Given the description of an element on the screen output the (x, y) to click on. 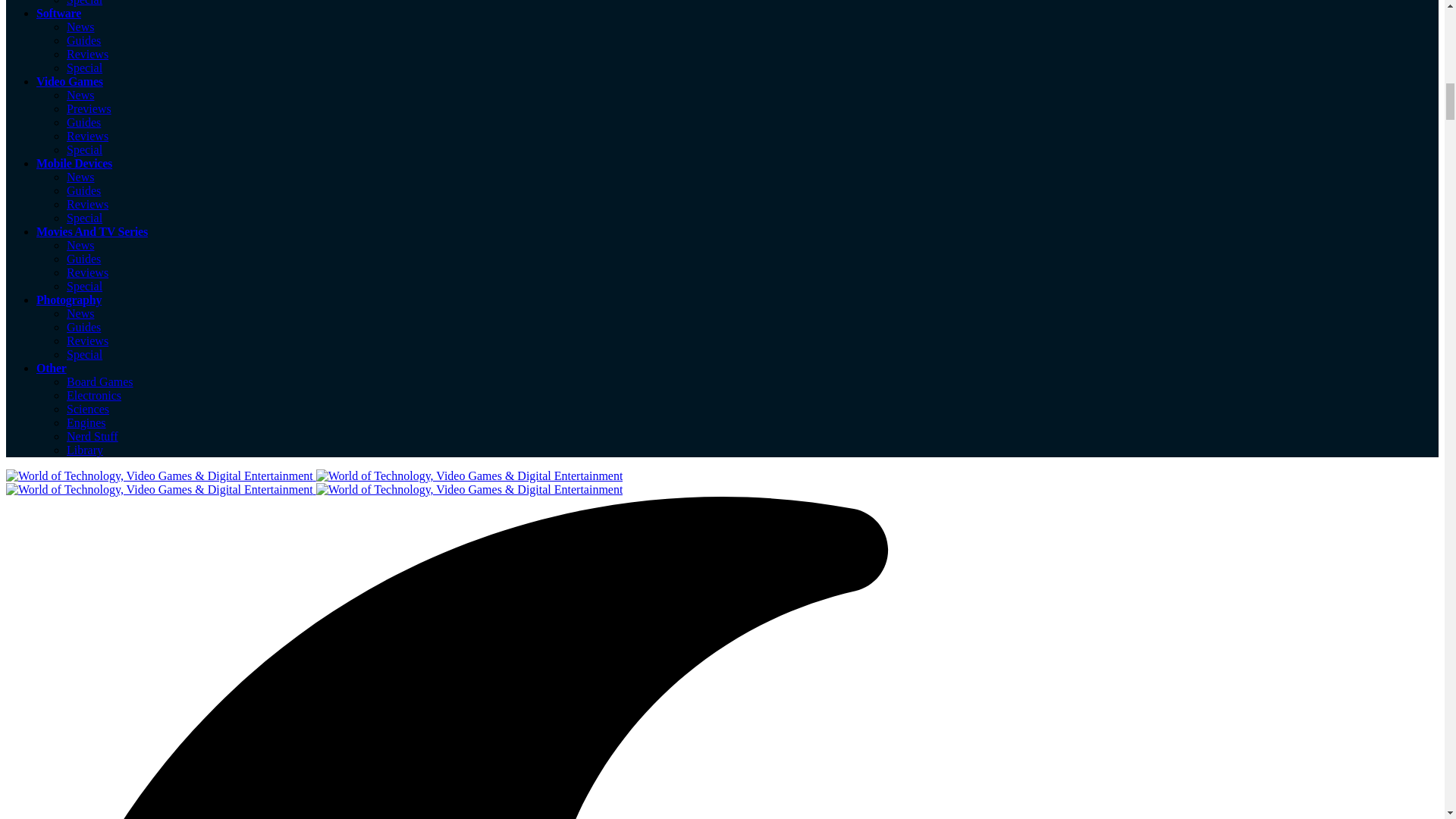
Mobile Devices (74, 163)
Reviews (86, 53)
Photography (68, 299)
News (80, 176)
Reviews (86, 272)
Guides (83, 258)
Guides (83, 40)
News (80, 94)
Movies And TV Series (92, 231)
Guides (83, 122)
Special (83, 286)
Special (83, 67)
Special (83, 217)
Previews (89, 108)
Special (83, 2)
